Given the description of an element on the screen output the (x, y) to click on. 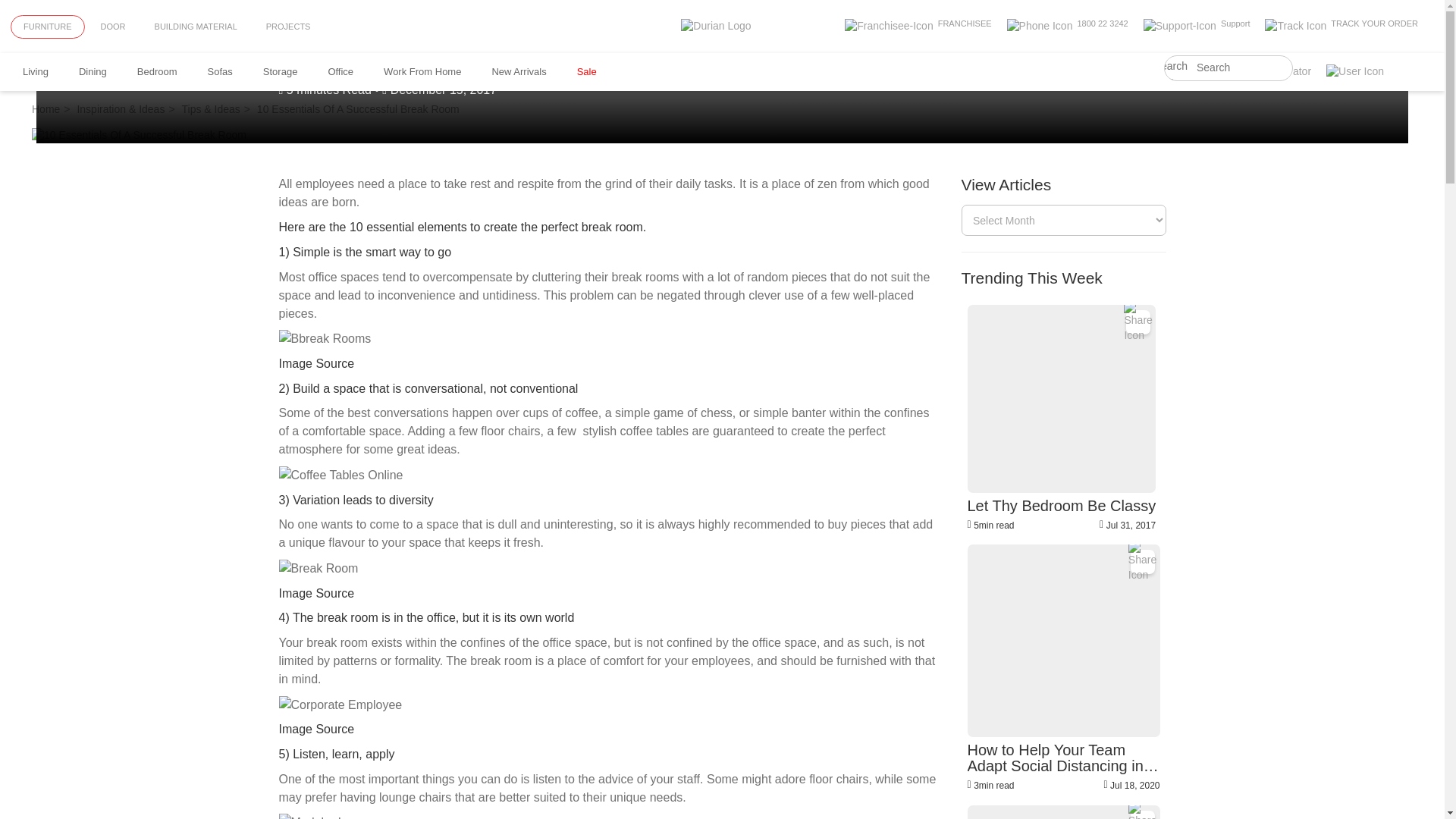
Furniture (47, 26)
FRANCHISEE (917, 26)
 Track Icon (1295, 26)
Franchisee-Icon (888, 26)
Support (1196, 26)
PROJECTS (288, 26)
Support-Icon (1178, 26)
BUILDING MATERIAL (195, 26)
Door (112, 26)
Durian Logo (716, 26)
